Given the description of an element on the screen output the (x, y) to click on. 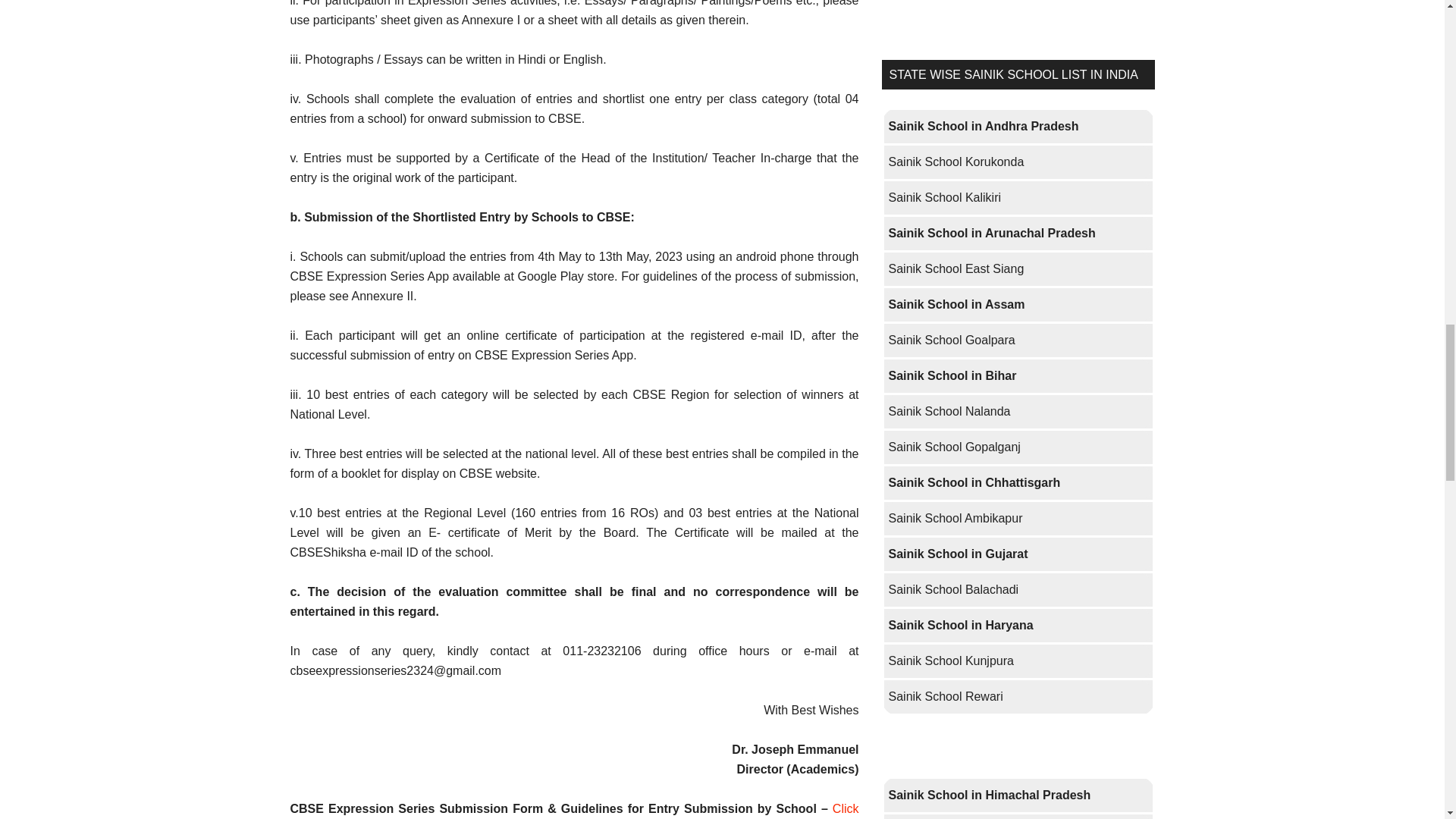
Click Here (574, 810)
